Given the description of an element on the screen output the (x, y) to click on. 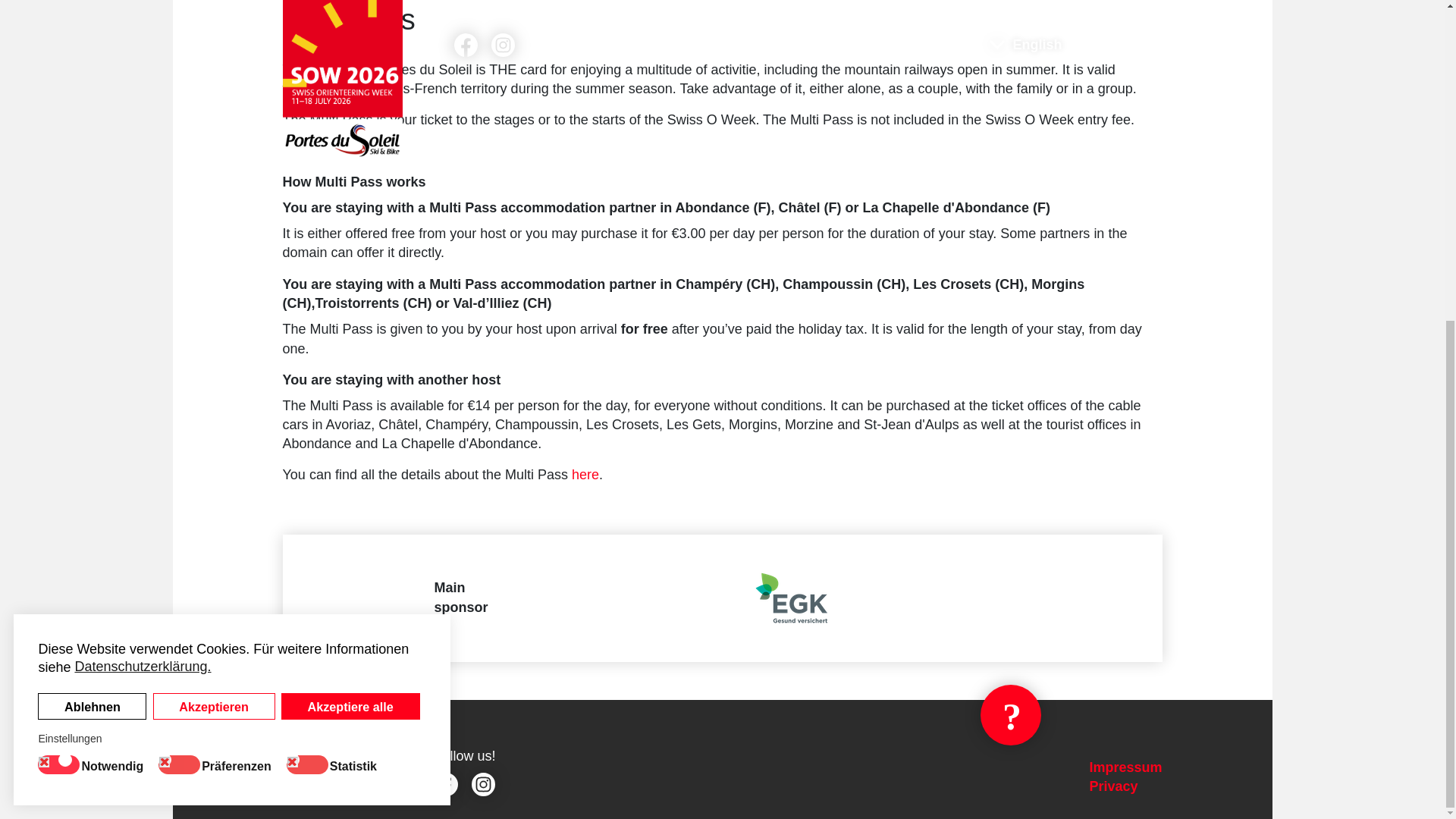
Statistik (355, 244)
Akzeptiere alle (350, 185)
Notwendig (114, 244)
Ablehnen (92, 185)
here (585, 474)
Instagram (483, 784)
Facebook (445, 784)
Akzeptieren (213, 185)
Impressum (1125, 767)
Privacy (1113, 785)
